Given the description of an element on the screen output the (x, y) to click on. 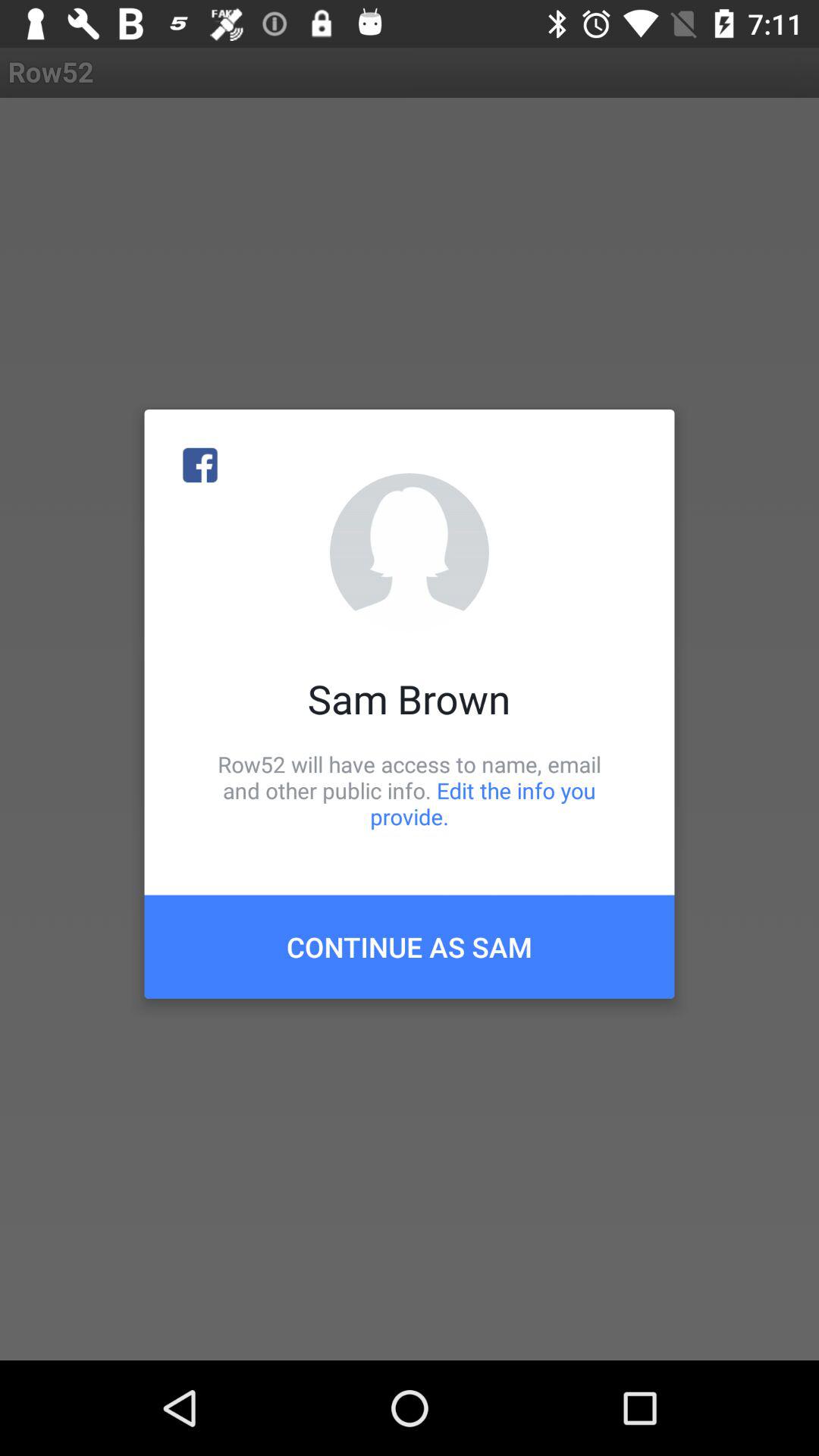
select item below the row52 will have icon (409, 946)
